Given the description of an element on the screen output the (x, y) to click on. 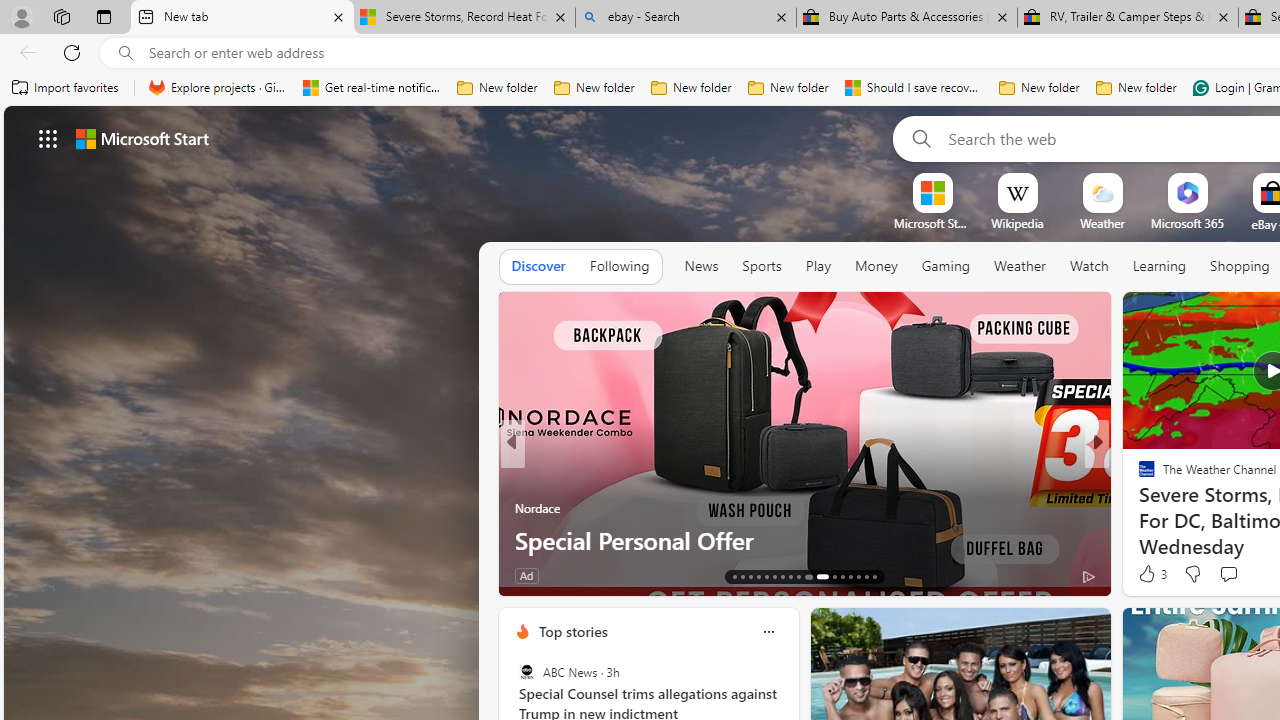
116 Like (1151, 574)
Watch (1089, 267)
Workspaces (61, 16)
View comments 8 Comment (1234, 574)
Gaming (945, 267)
Money (876, 267)
Play (818, 267)
99 Like (1149, 574)
ABC News (526, 672)
Following (619, 267)
Special Personal Offer (804, 539)
AutomationID: tab-20 (789, 576)
AutomationID: tab-16 (757, 576)
353 Like (1151, 574)
